Given the description of an element on the screen output the (x, y) to click on. 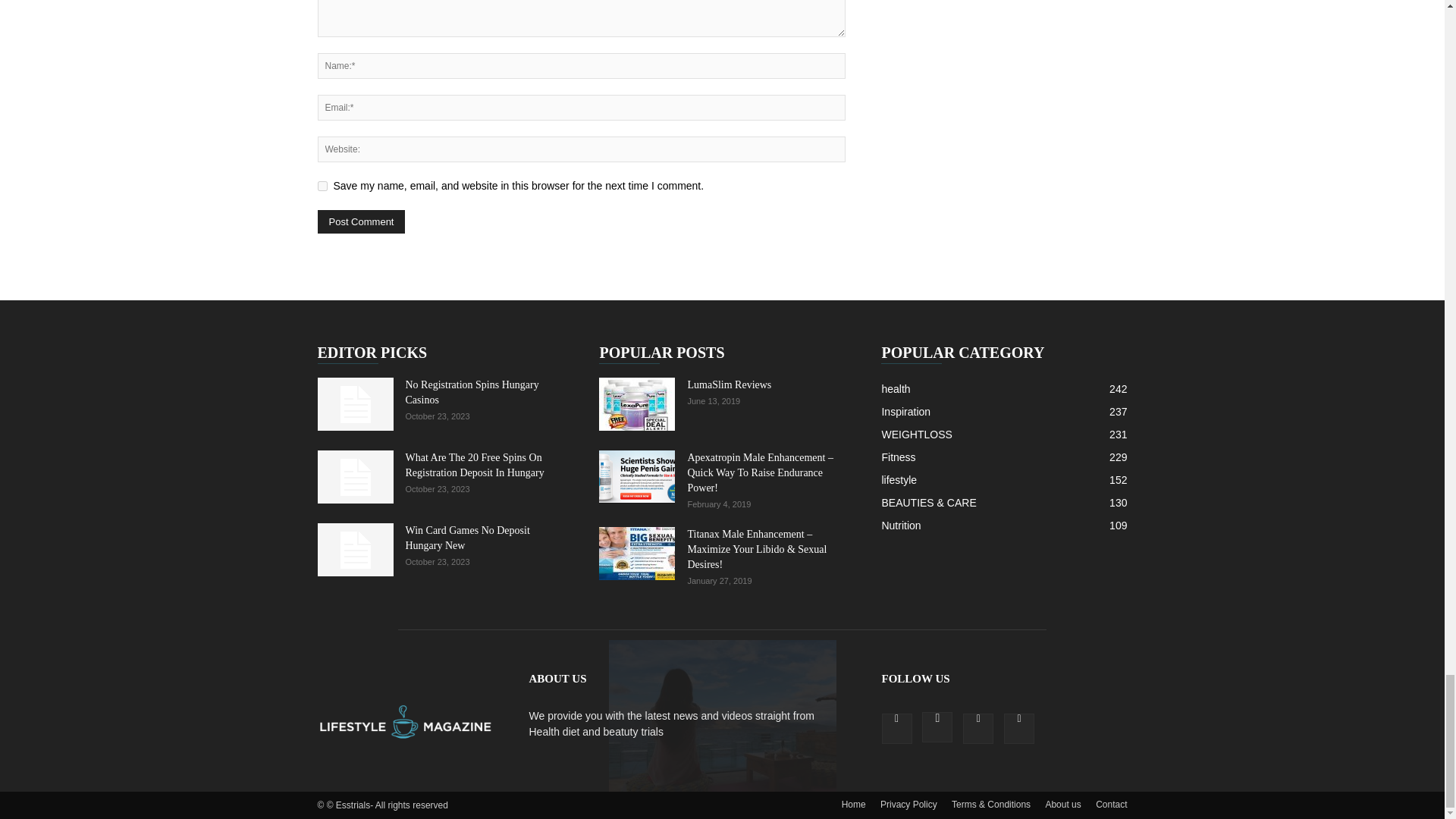
yes (321, 185)
Post Comment (360, 221)
